Given the description of an element on the screen output the (x, y) to click on. 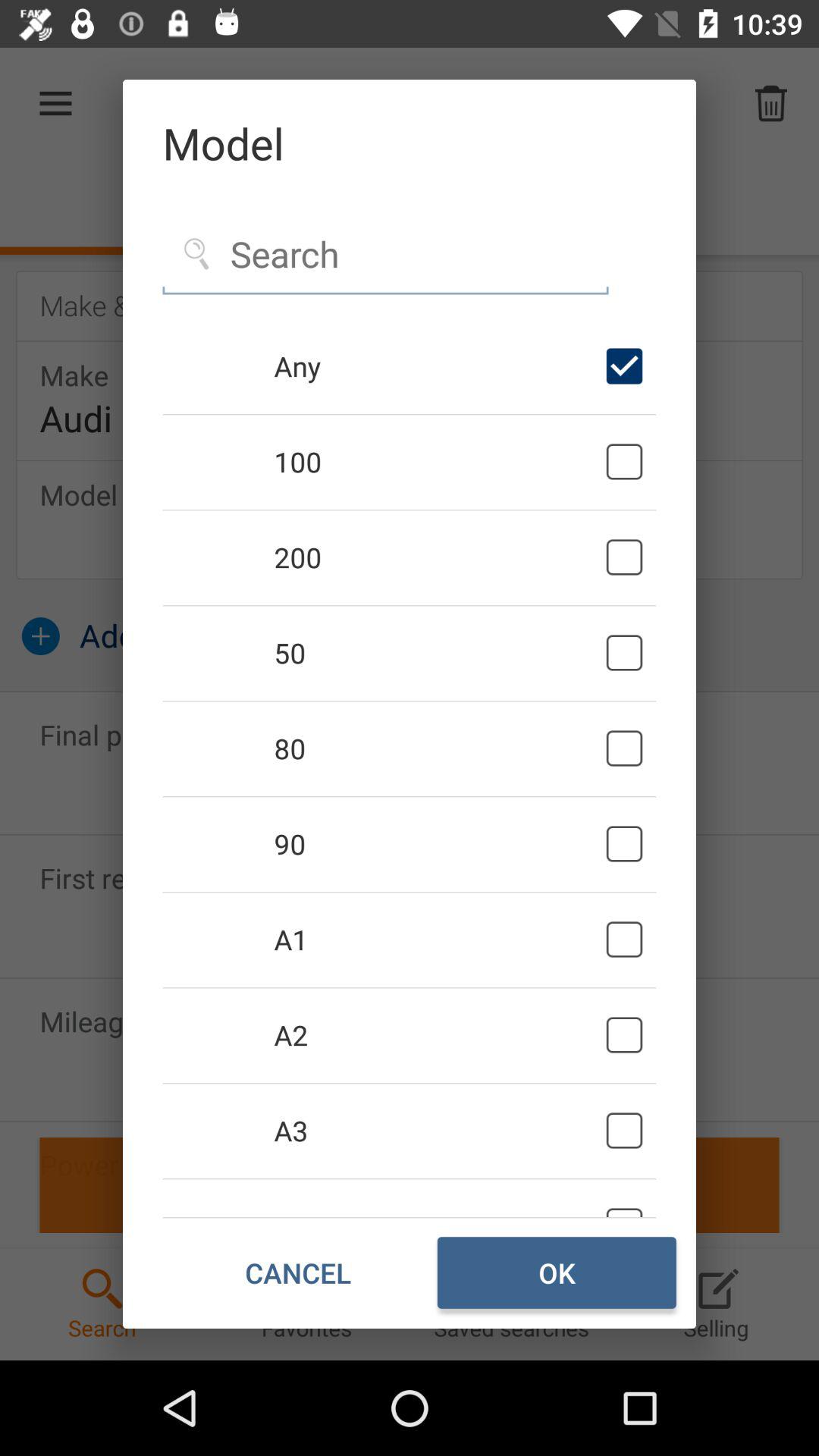
click the icon below the a2 (437, 1130)
